Given the description of an element on the screen output the (x, y) to click on. 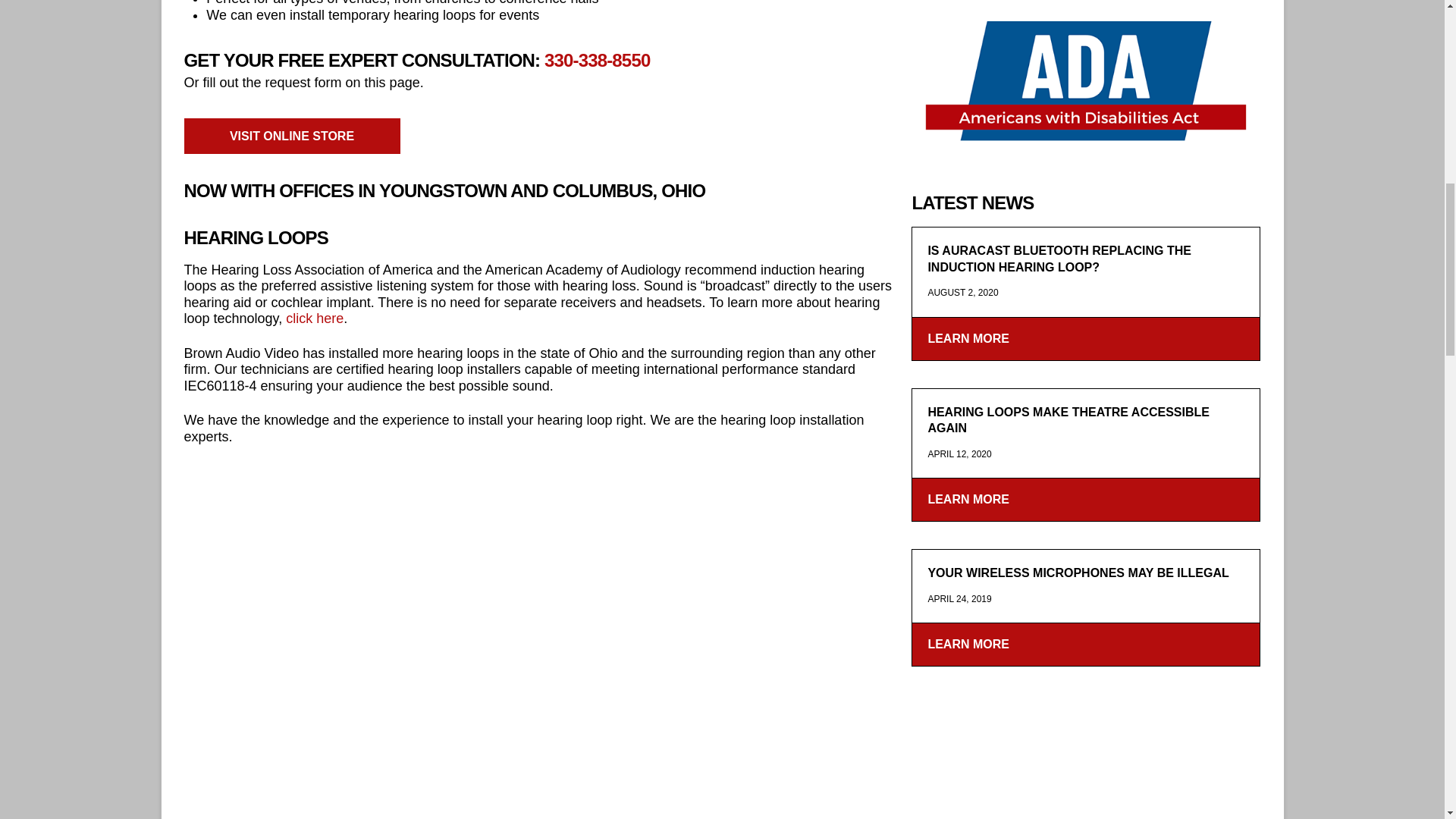
330-338-8550 (596, 59)
click here (314, 318)
LEARN MORE (1085, 643)
LEARN MORE (1085, 338)
VISIT ONLINE STORE (290, 135)
LEARN MORE (1085, 498)
